Given the description of an element on the screen output the (x, y) to click on. 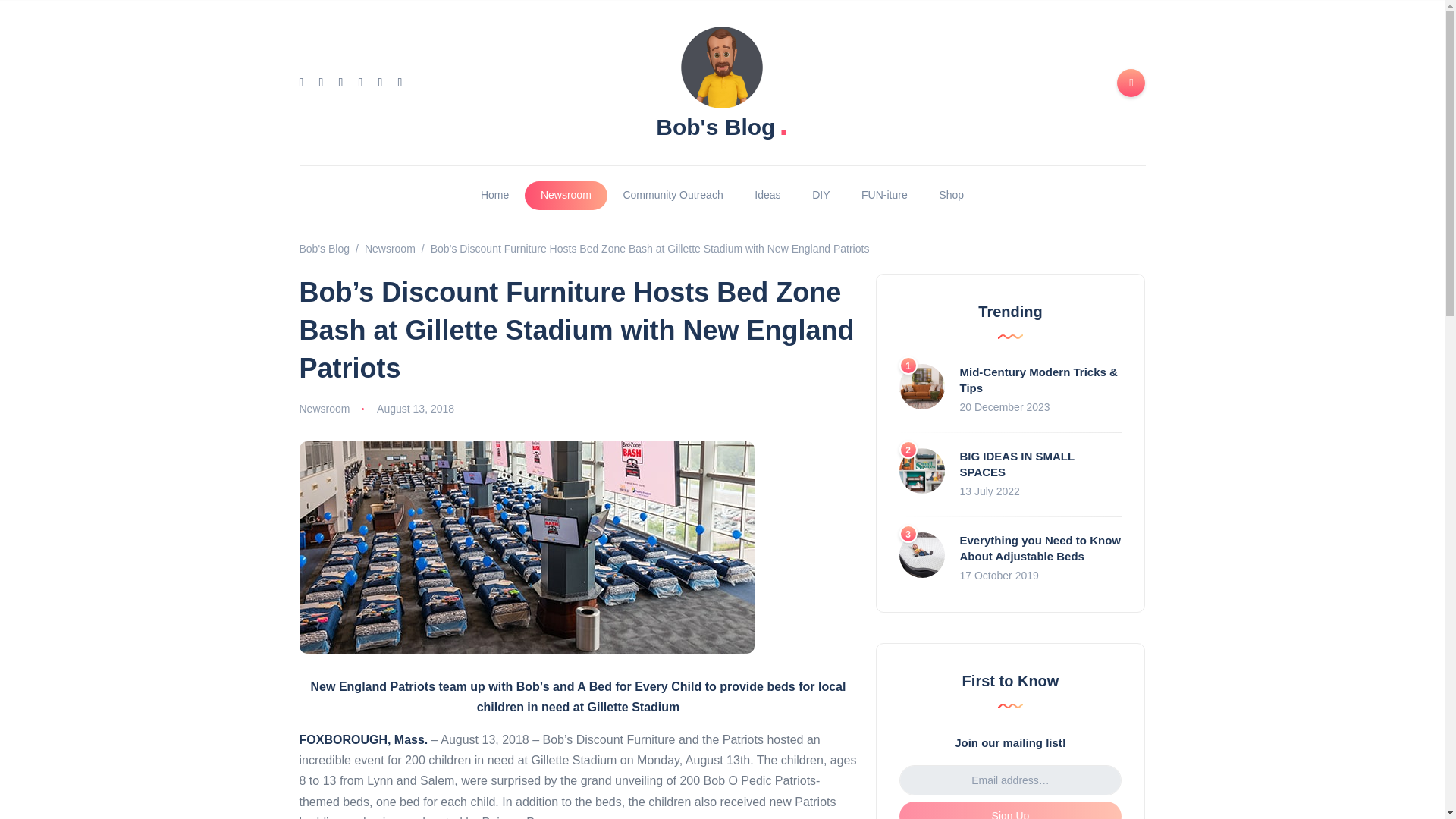
Bob's Blog. (721, 125)
Home (494, 194)
Go to Bob's Blog. (323, 248)
Community Outreach (673, 194)
Newsroom (565, 194)
Go to the Newsroom Category archives. (389, 248)
Ideas (767, 194)
